Given the description of an element on the screen output the (x, y) to click on. 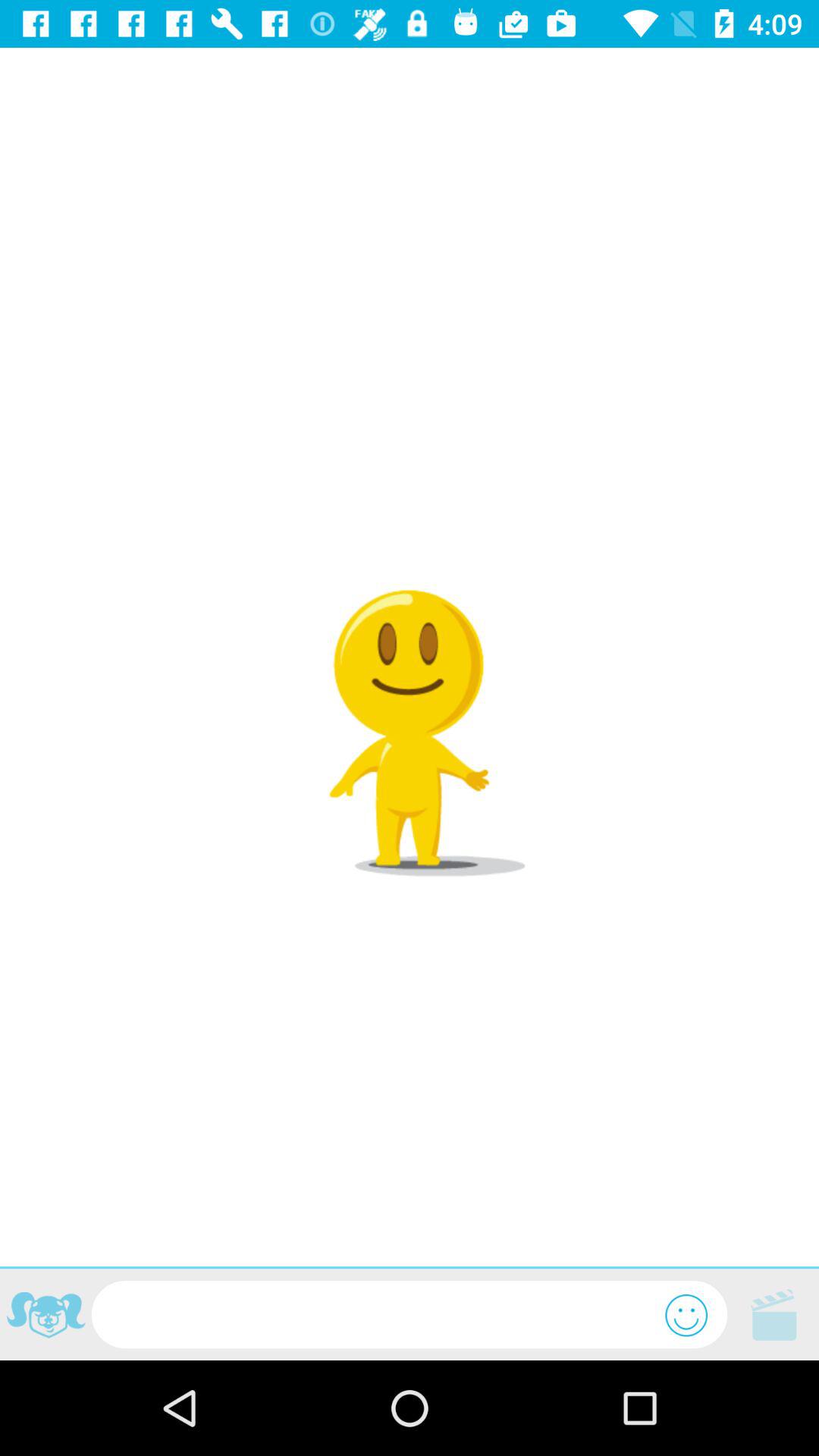
emoticons (686, 1315)
